Given the description of an element on the screen output the (x, y) to click on. 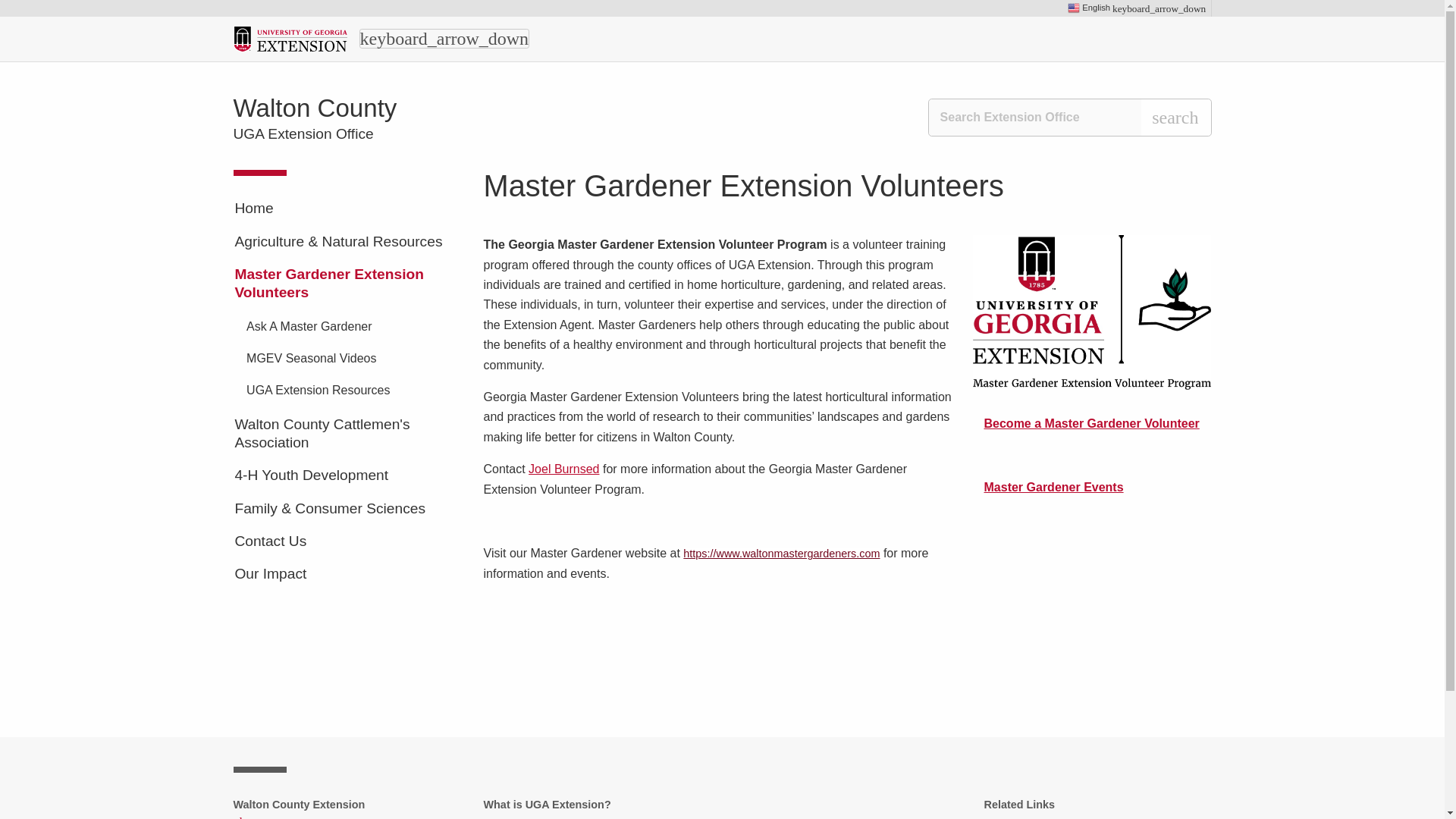
Contact Us (346, 540)
Walton County Cattlemen's Association (346, 433)
UGA Extension and Master Gardener Logo (1091, 312)
search (1174, 117)
Home (346, 209)
4-H Youth Development (346, 476)
Joel Burnsed (563, 468)
Walton County (314, 108)
Master Gardener Extension Volunteers (346, 282)
UGA Extension Resources (353, 390)
